Given the description of an element on the screen output the (x, y) to click on. 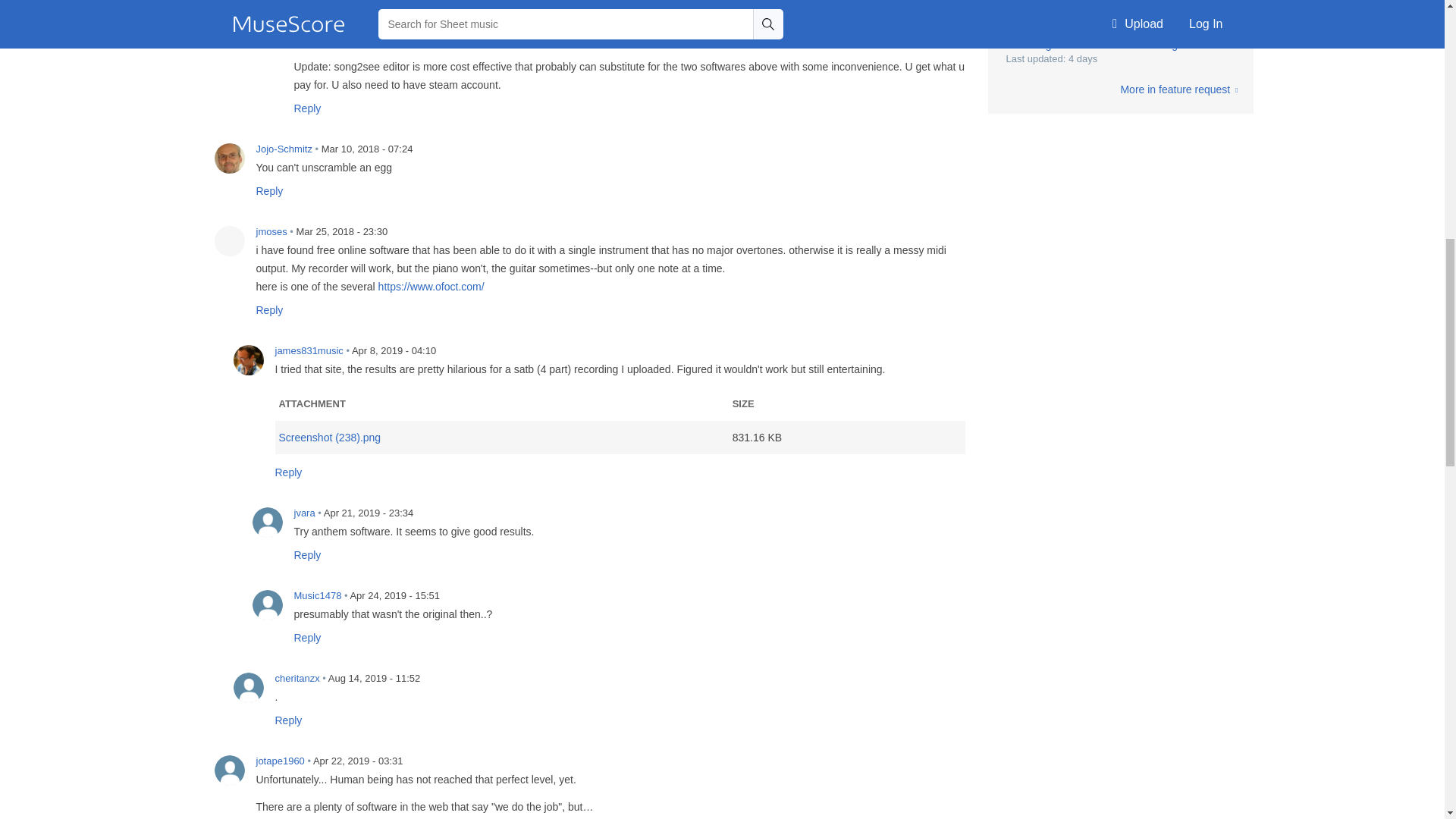
hanghanh (266, 4)
jvara (266, 521)
Music1478 (266, 604)
Jojo-Schmitz (229, 158)
james831music (247, 359)
jmoses (229, 241)
